Given the description of an element on the screen output the (x, y) to click on. 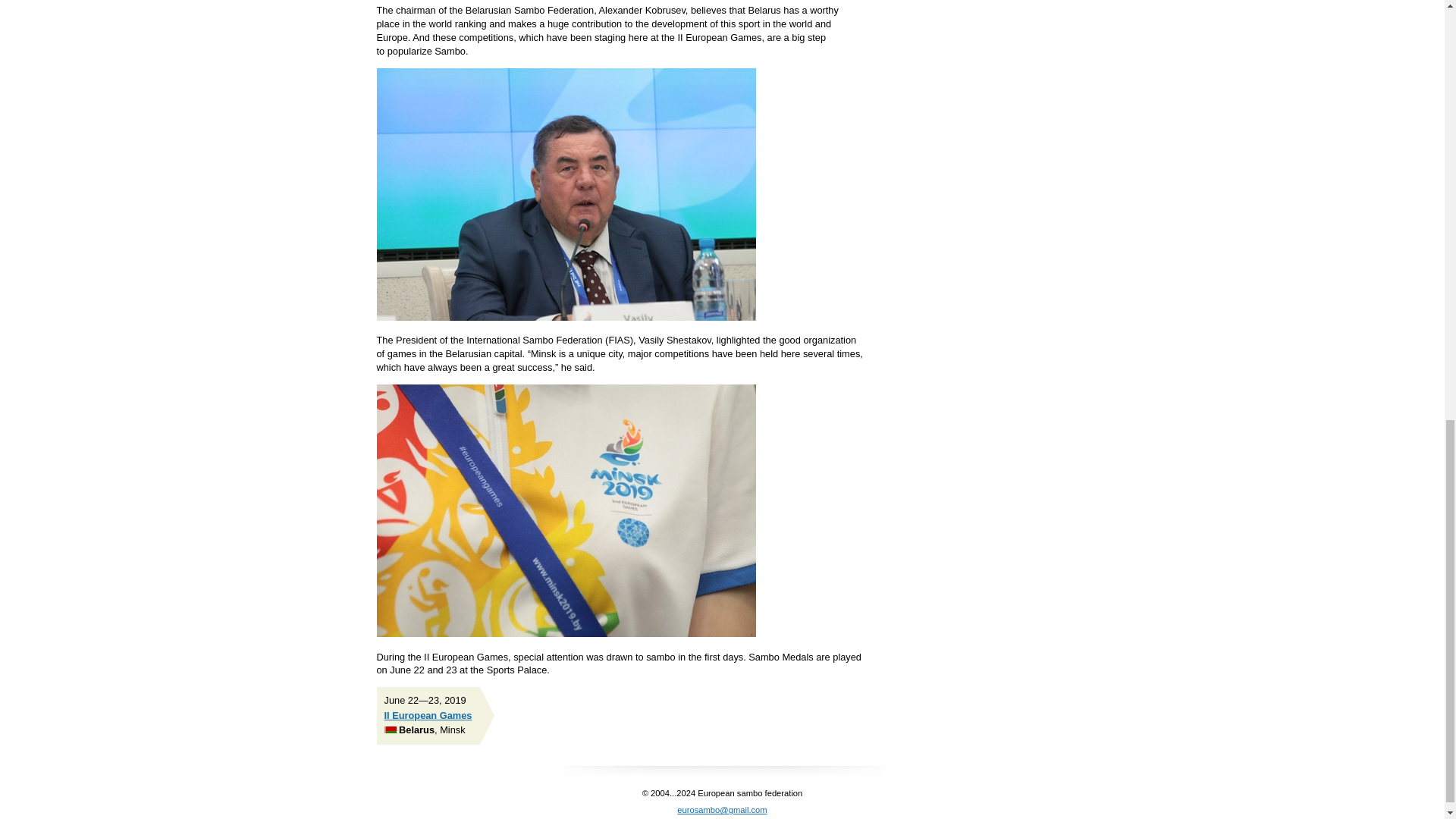
II European Games (427, 715)
